Given the description of an element on the screen output the (x, y) to click on. 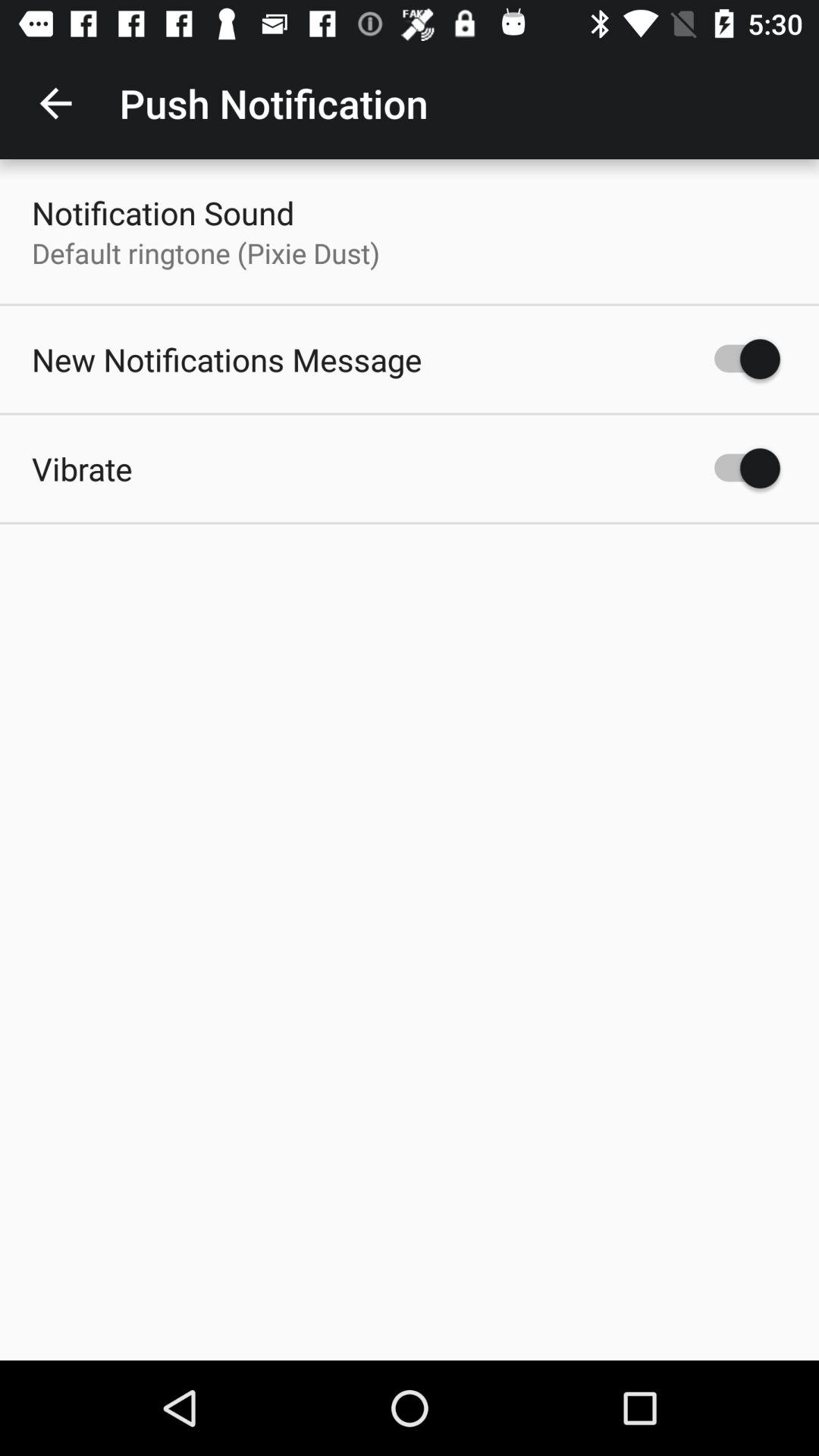
launch notification sound icon (162, 212)
